Given the description of an element on the screen output the (x, y) to click on. 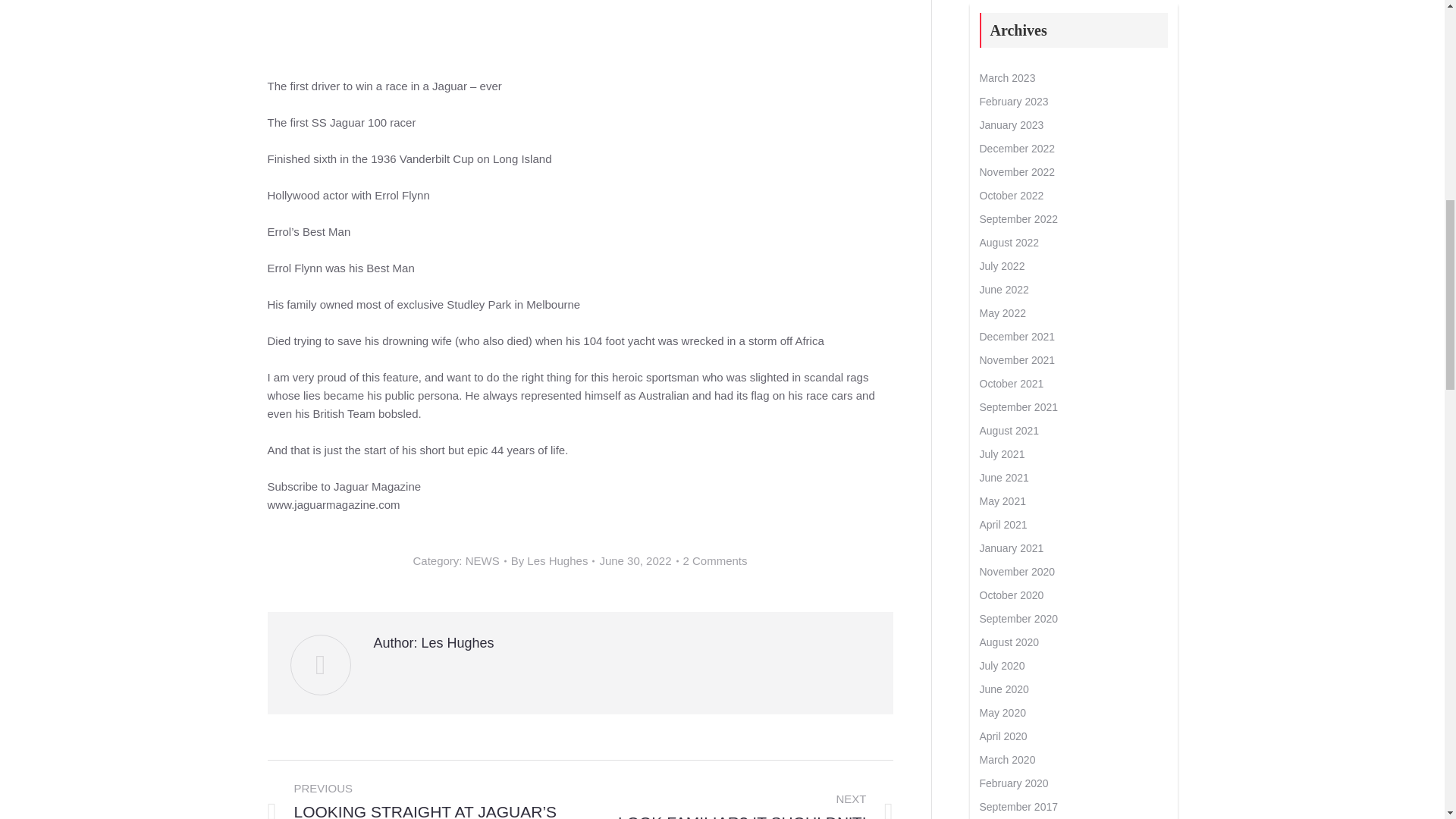
June 30, 2022 (638, 561)
NEWS (482, 560)
View all posts by Les Hughes (553, 561)
By Les Hughes (553, 561)
1:13 am (638, 561)
2 Comments (714, 561)
